Given the description of an element on the screen output the (x, y) to click on. 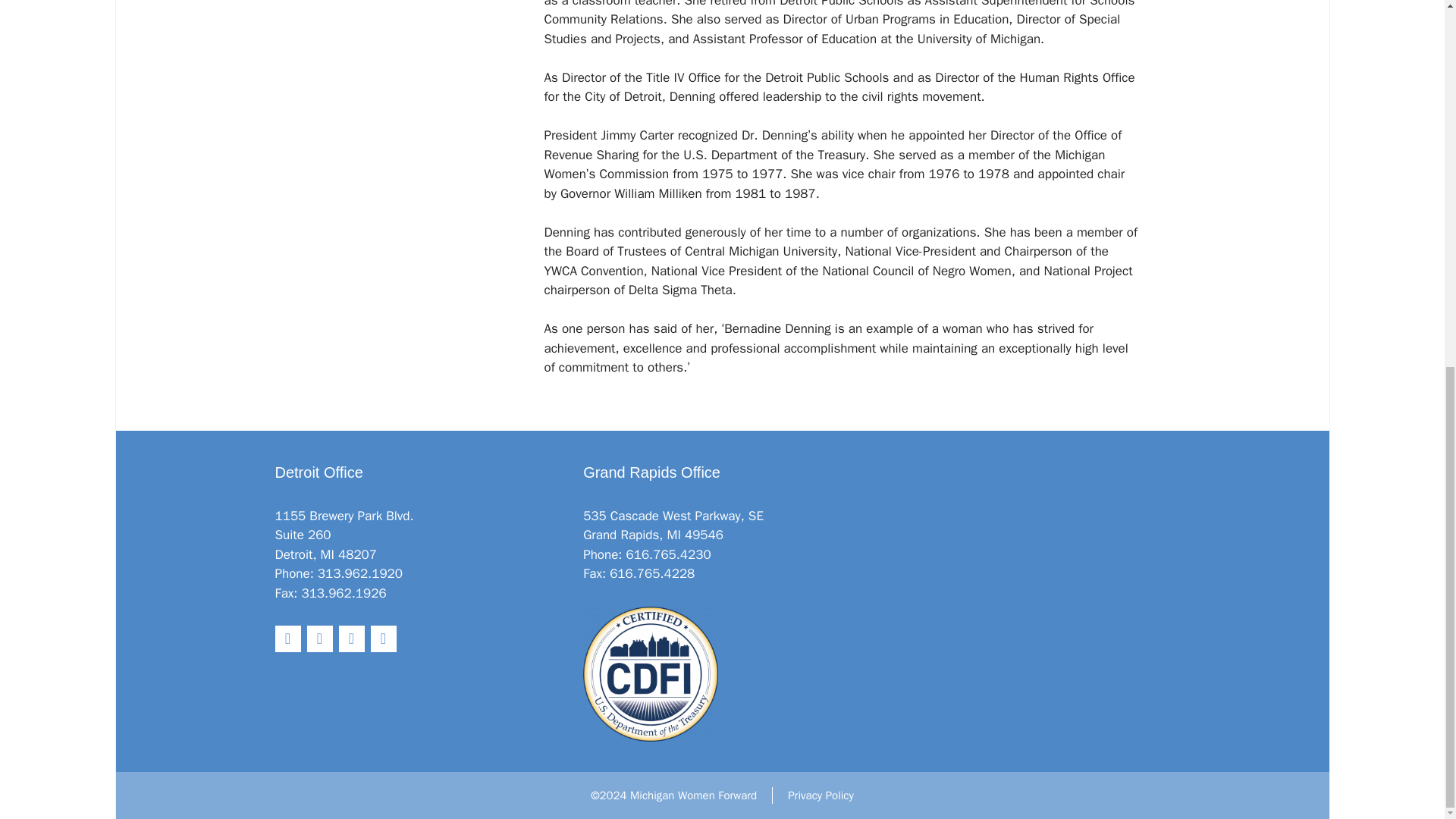
Twitter (287, 638)
Facebook (318, 638)
Instagram (382, 638)
Privacy Policy (820, 795)
LinkedIn (350, 638)
